Given the description of an element on the screen output the (x, y) to click on. 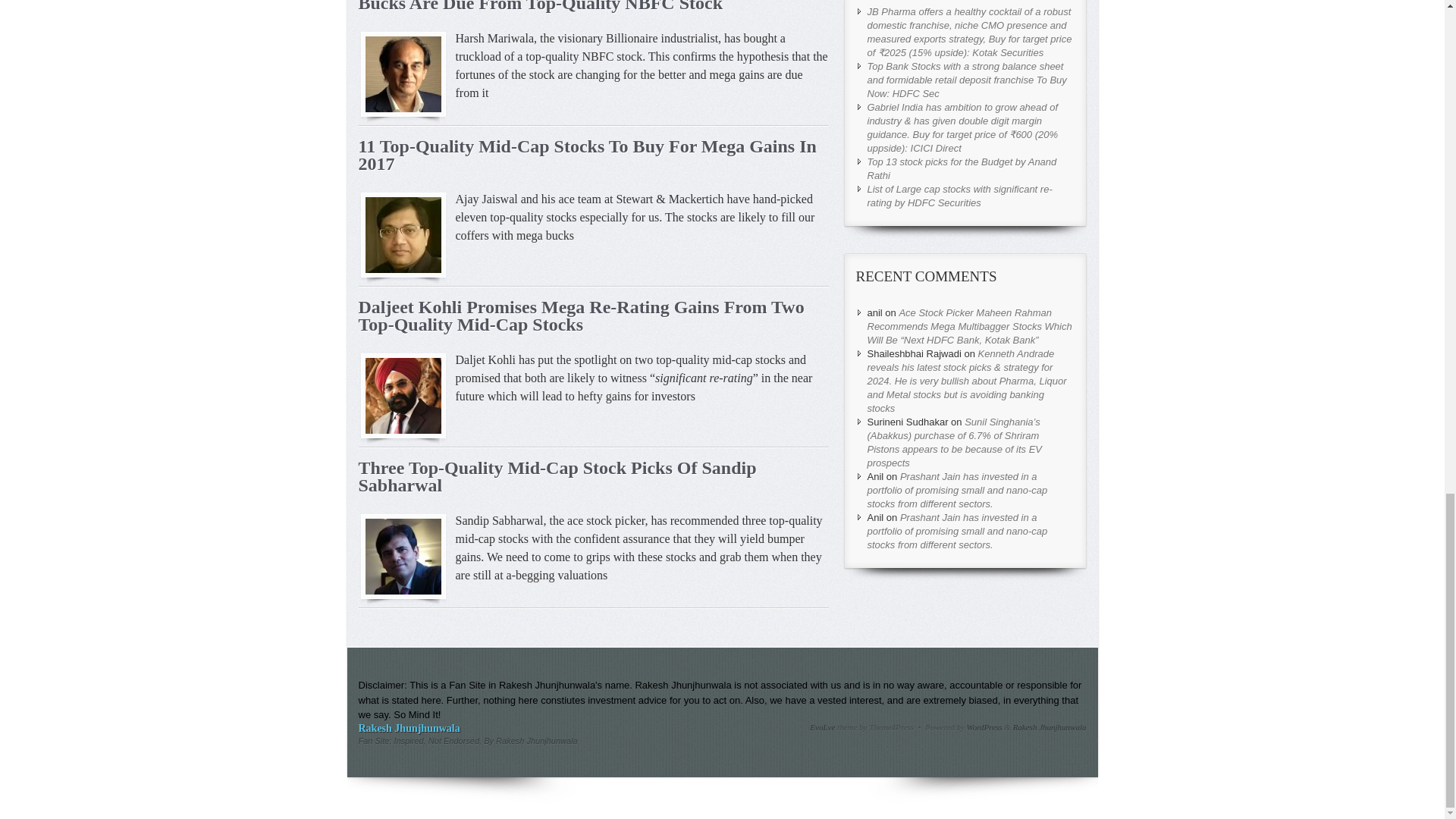
Top 13 stock picks for the Budget by Anand Rathi (962, 168)
11 Top-Quality Mid-Cap Stocks To Buy For Mega Gains In 2017 (586, 154)
Three Top-Quality Mid-Cap Stock Picks Of Sandip Sabharwal (556, 476)
